Given the description of an element on the screen output the (x, y) to click on. 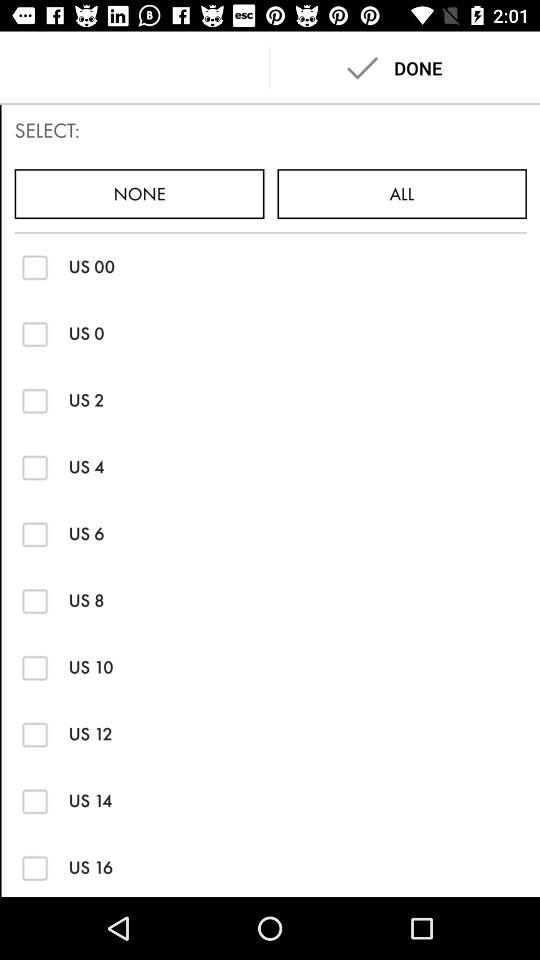
select us 16 size (34, 867)
